Given the description of an element on the screen output the (x, y) to click on. 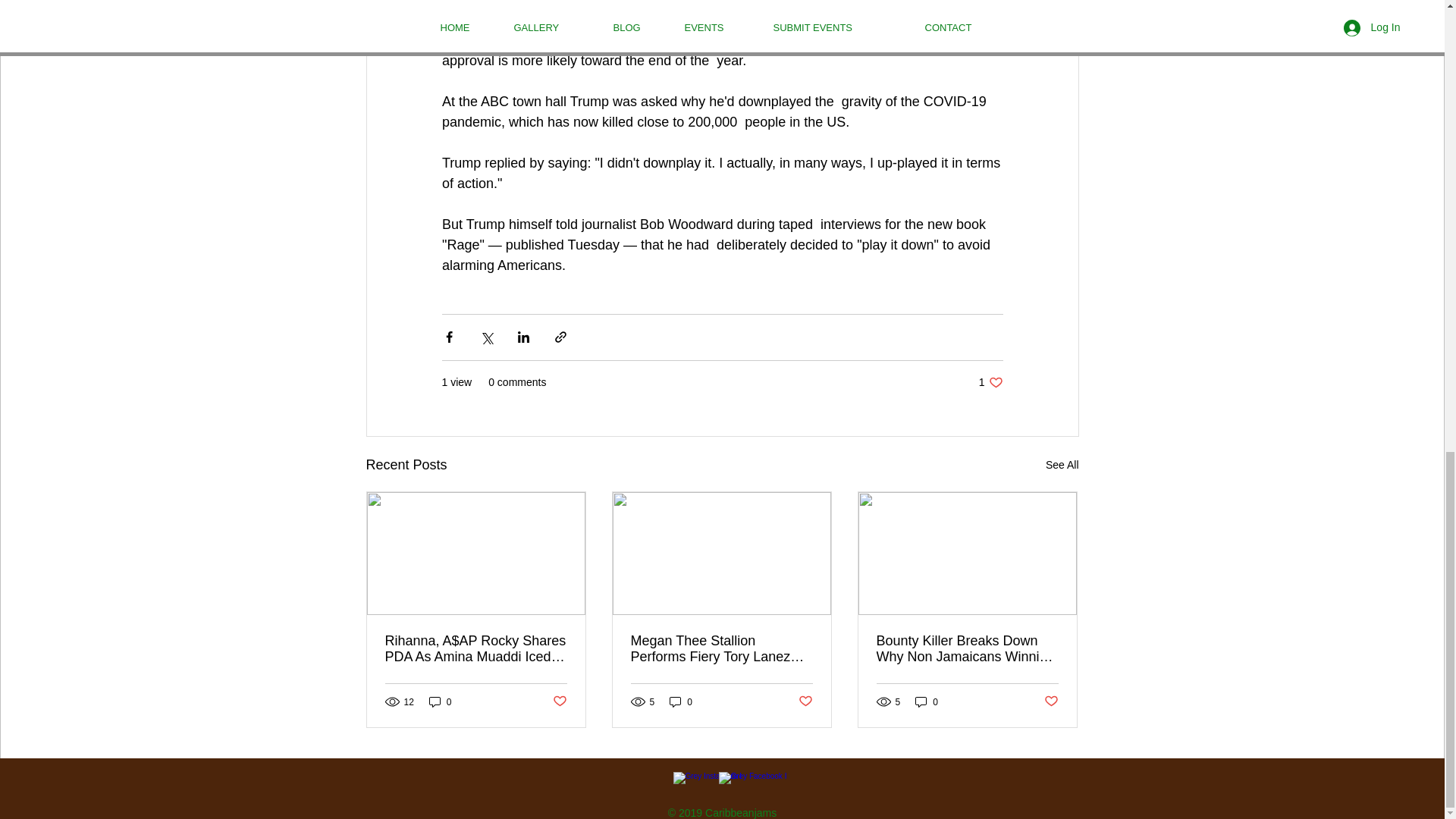
Post not marked as liked (558, 701)
Post not marked as liked (990, 382)
0 (1050, 701)
See All (926, 701)
0 (1061, 464)
0 (681, 701)
Post not marked as liked (440, 701)
